Given the description of an element on the screen output the (x, y) to click on. 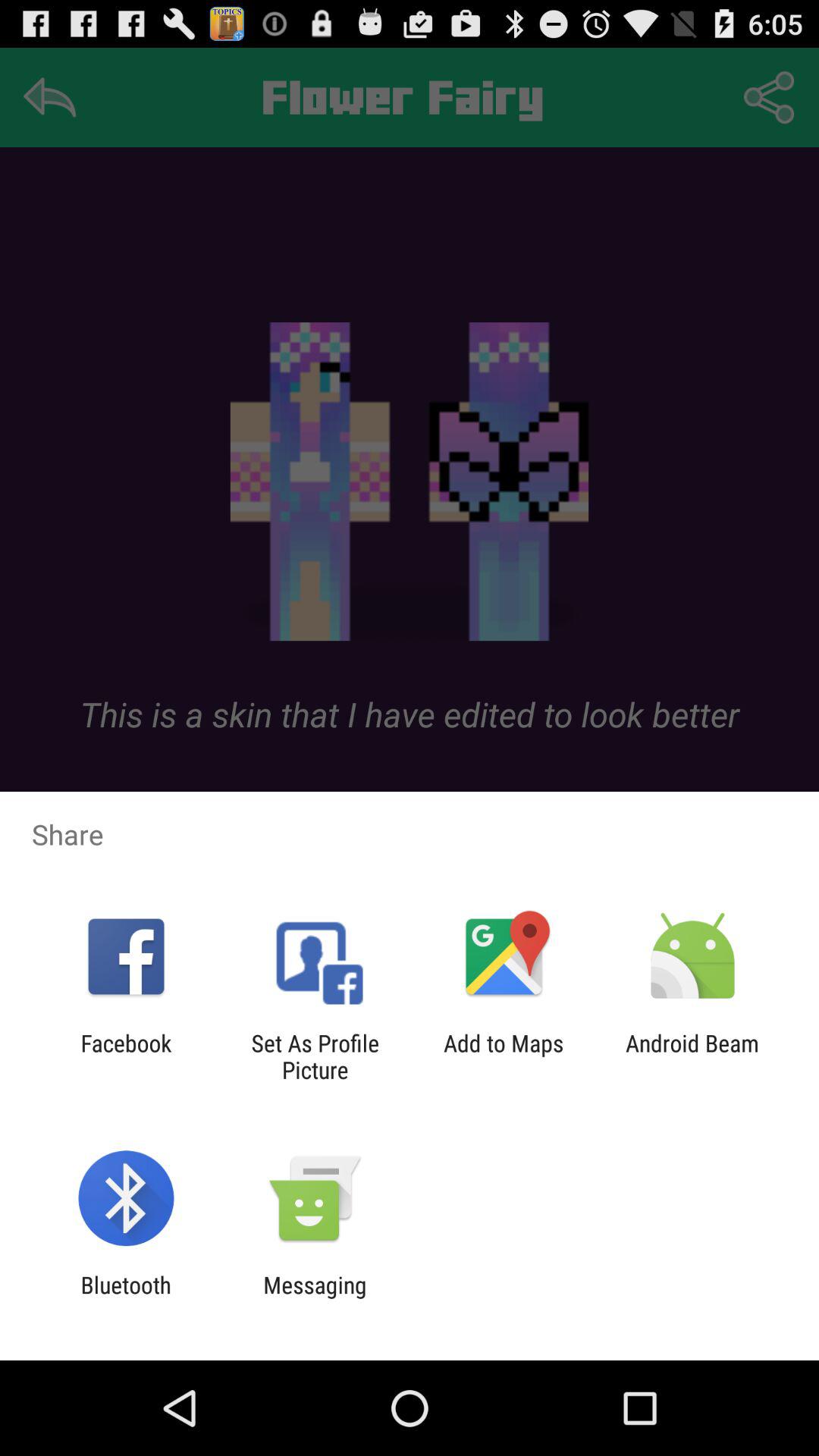
select app to the left of the add to maps icon (314, 1056)
